Given the description of an element on the screen output the (x, y) to click on. 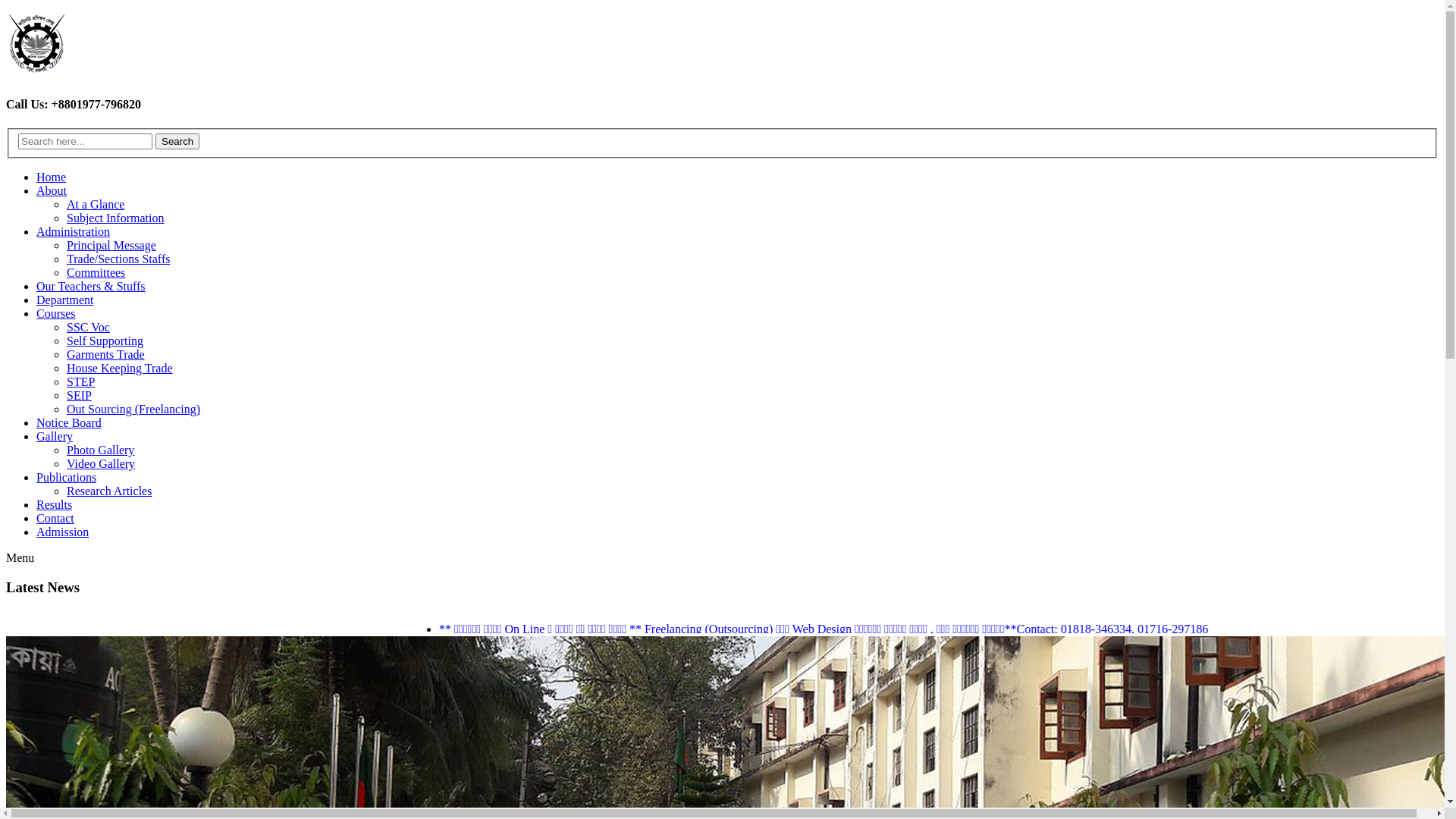
SSC Voc Element type: text (87, 326)
Administration Element type: text (72, 231)
Contact Element type: text (55, 517)
STEP Element type: text (80, 381)
Our Teachers & Stuffs Element type: text (90, 285)
Courses Element type: text (55, 313)
SEIP Element type: text (78, 395)
Principal Message Element type: text (111, 244)
Out Sourcing (Freelancing) Element type: text (133, 408)
Search Element type: text (177, 141)
Department Element type: text (65, 299)
Committees Element type: text (95, 272)
Publications Element type: text (66, 476)
Admission Element type: text (62, 531)
Research Articles Element type: text (108, 490)
Results Element type: text (54, 504)
House Keeping Trade Element type: text (119, 367)
Home Element type: text (50, 176)
Subject Information Element type: text (114, 217)
About Element type: text (51, 190)
Self Supporting Element type: text (104, 340)
Video Gallery Element type: text (100, 463)
At a Glance Element type: text (95, 203)
Garments Trade Element type: text (105, 354)
Photo Gallery Element type: text (100, 449)
Notice Board Element type: text (68, 422)
Gallery Element type: text (54, 435)
Trade/Sections Staffs Element type: text (117, 258)
